Given the description of an element on the screen output the (x, y) to click on. 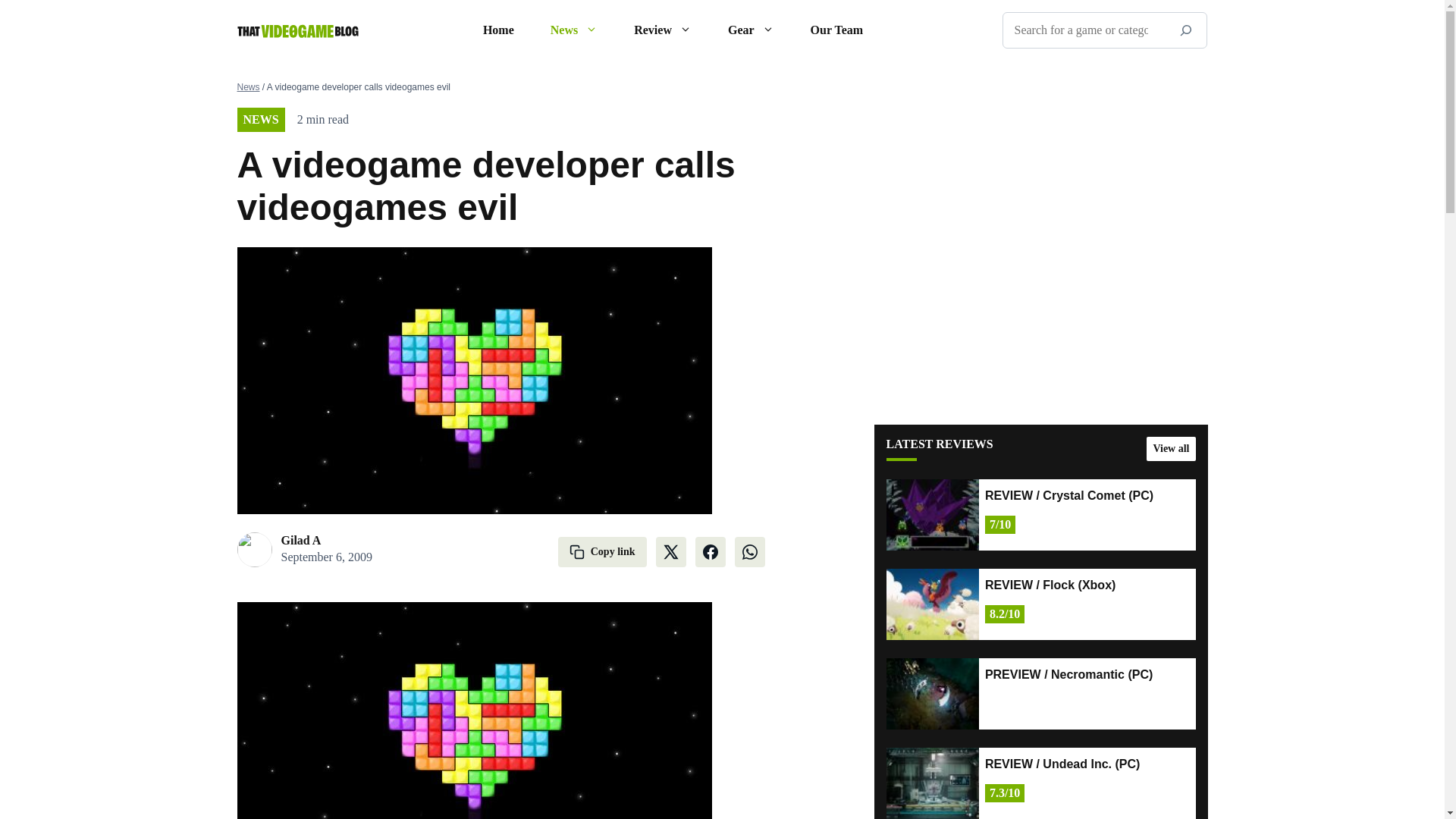
Home (498, 29)
Gear (751, 29)
News (573, 29)
Review (662, 29)
